Given the description of an element on the screen output the (x, y) to click on. 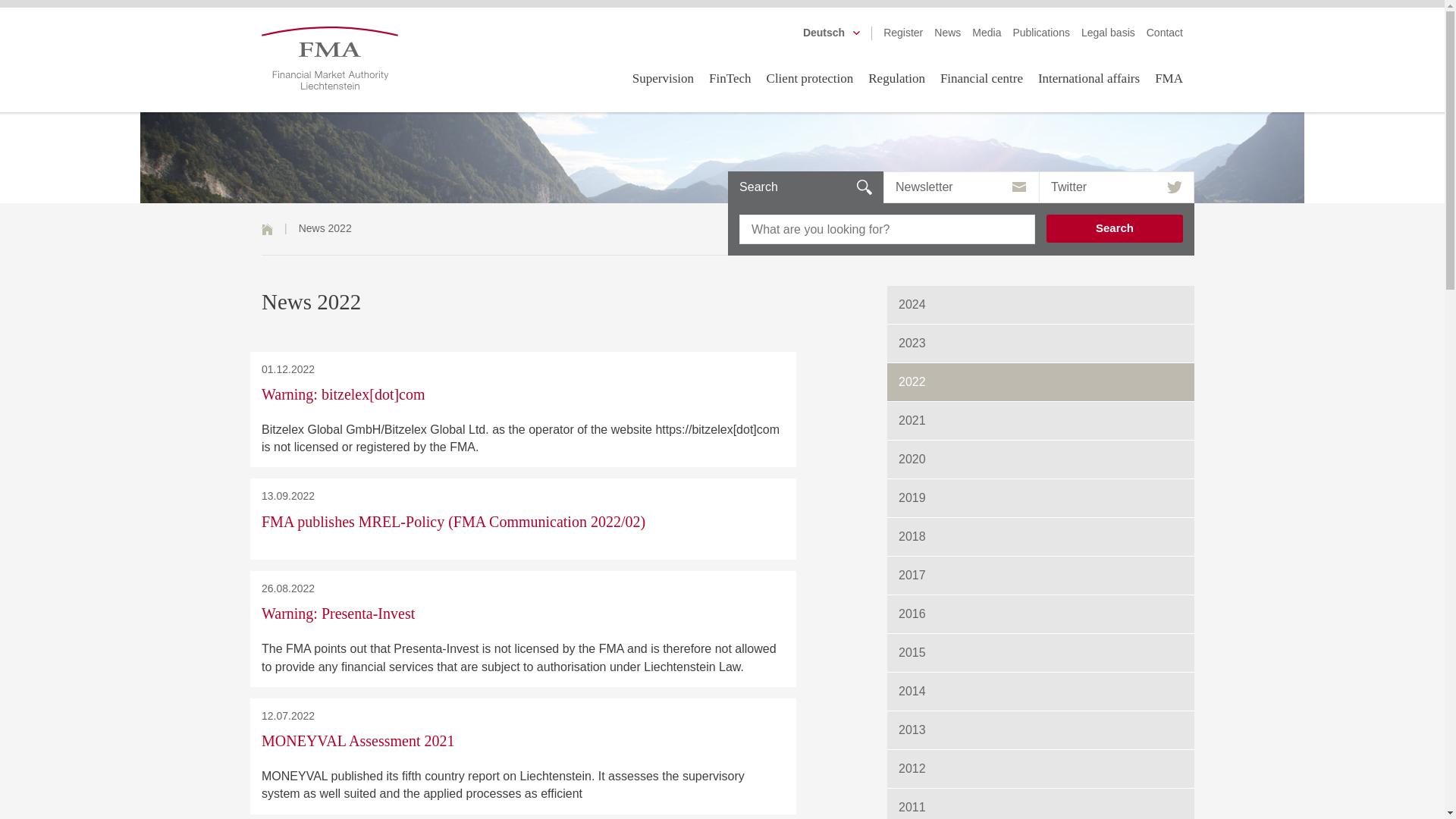
2024 (1039, 303)
2020 (1039, 458)
News (947, 32)
Legal basis (1108, 32)
Regulation (895, 78)
Client protection (810, 78)
Deutsch (831, 33)
Publications (1040, 32)
Financial centre (981, 78)
Supervision (662, 78)
